Given the description of an element on the screen output the (x, y) to click on. 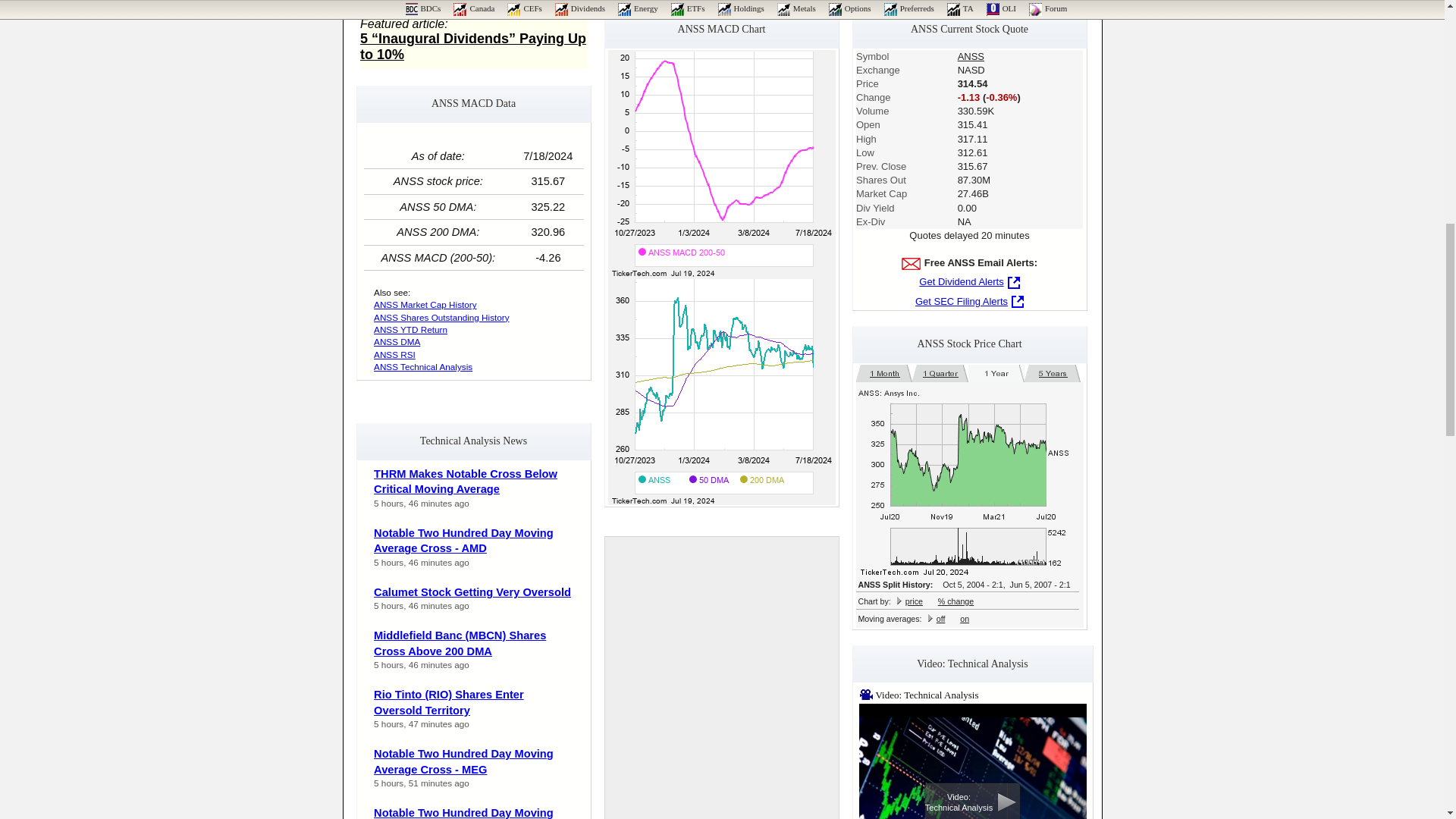
Calumet Stock Getting Very Oversold (472, 592)
Notable Two Hundred Day Moving Average Cross - MEG (463, 761)
ANSS DMA (397, 341)
Notable Two Hundred Day Moving Average Cross - SHO (463, 812)
ANSS Technical Analysis (422, 366)
ANSS Shares Outstanding History (441, 317)
THRM Makes Notable Cross Below Critical Moving Average (465, 481)
ANSS YTD Return (410, 329)
ANSS Market Cap History (425, 304)
Notable Two Hundred Day Moving Average Cross - AMD (463, 541)
ANSS RSI (394, 354)
